Given the description of an element on the screen output the (x, y) to click on. 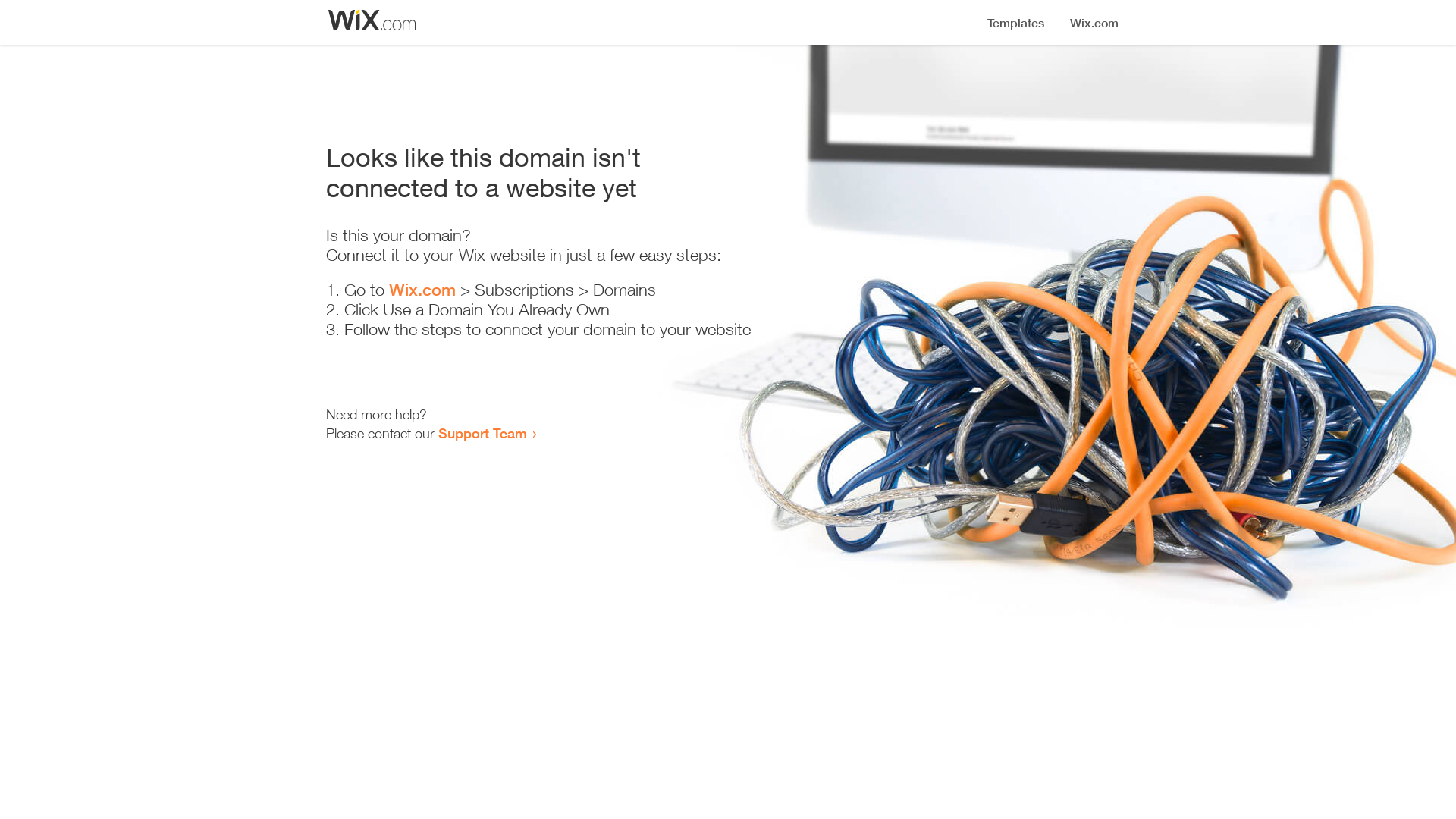
Wix.com Element type: text (422, 289)
Support Team Element type: text (482, 432)
